Given the description of an element on the screen output the (x, y) to click on. 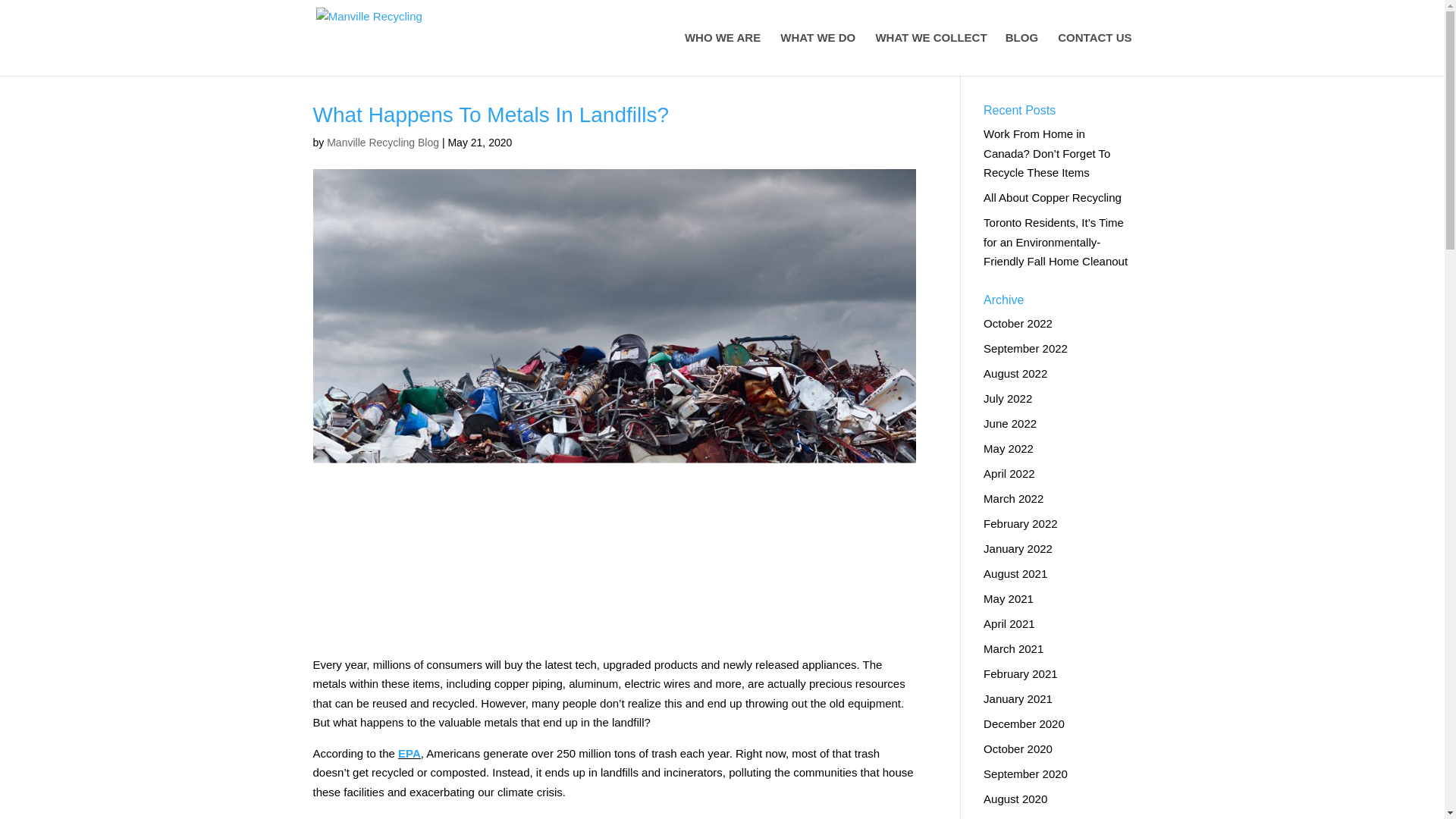
April 2022 (1009, 472)
February 2022 (1021, 522)
July 2022 (1008, 397)
June 2022 (1010, 422)
January 2022 (1018, 547)
EPA (408, 753)
September 2022 (1025, 347)
WHO WE ARE (722, 54)
WHAT WE COLLECT (938, 54)
CONTACT US (1094, 54)
